Given the description of an element on the screen output the (x, y) to click on. 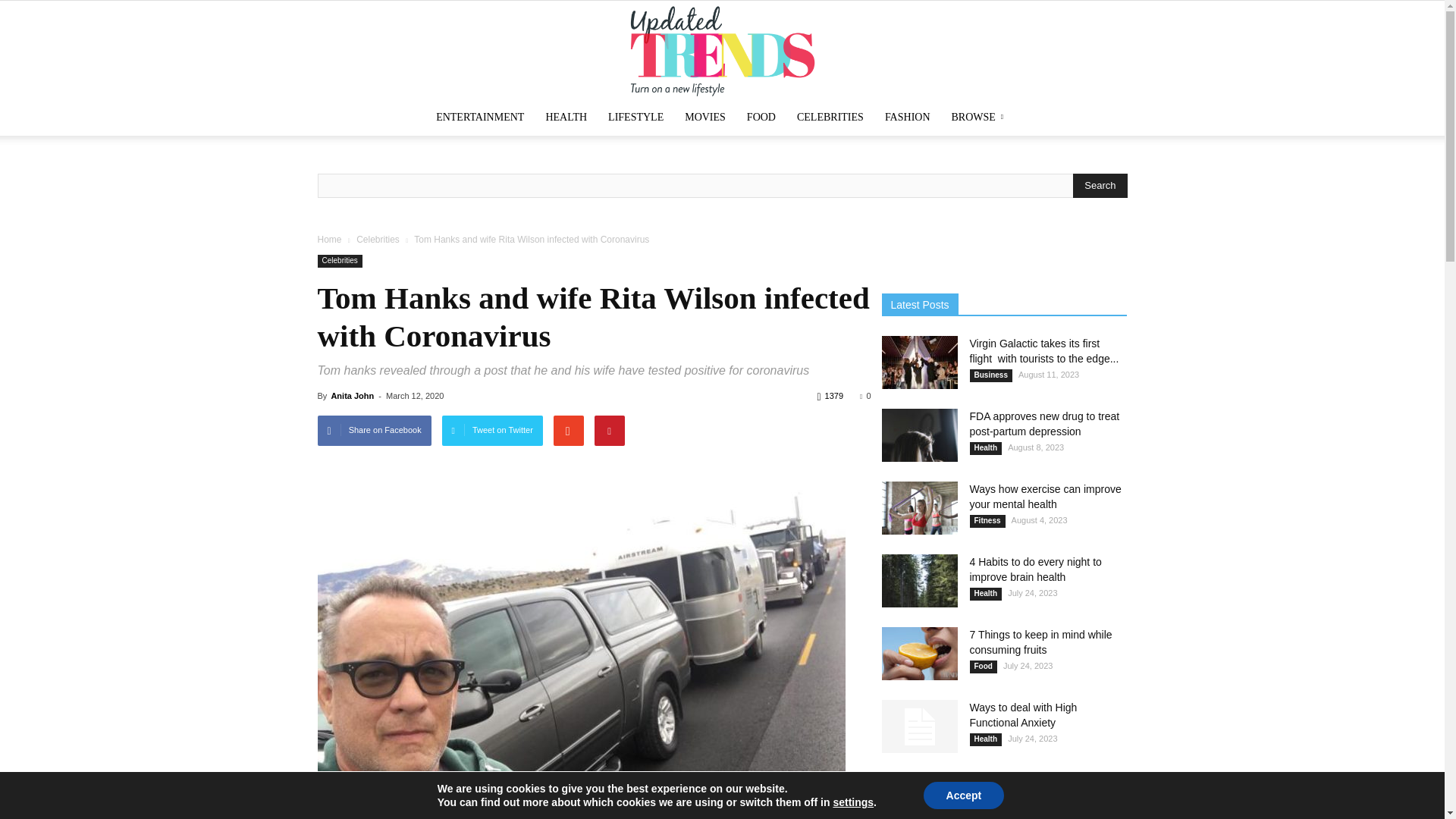
LIFESTYLE (635, 117)
Search (1099, 185)
CELEBRITIES (830, 117)
ENTERTAINMENT (479, 117)
MOVIES (705, 117)
View all posts in Celebrities (377, 239)
BROWSE (979, 117)
FASHION (907, 117)
FOOD (761, 117)
HEALTH (565, 117)
